Given the description of an element on the screen output the (x, y) to click on. 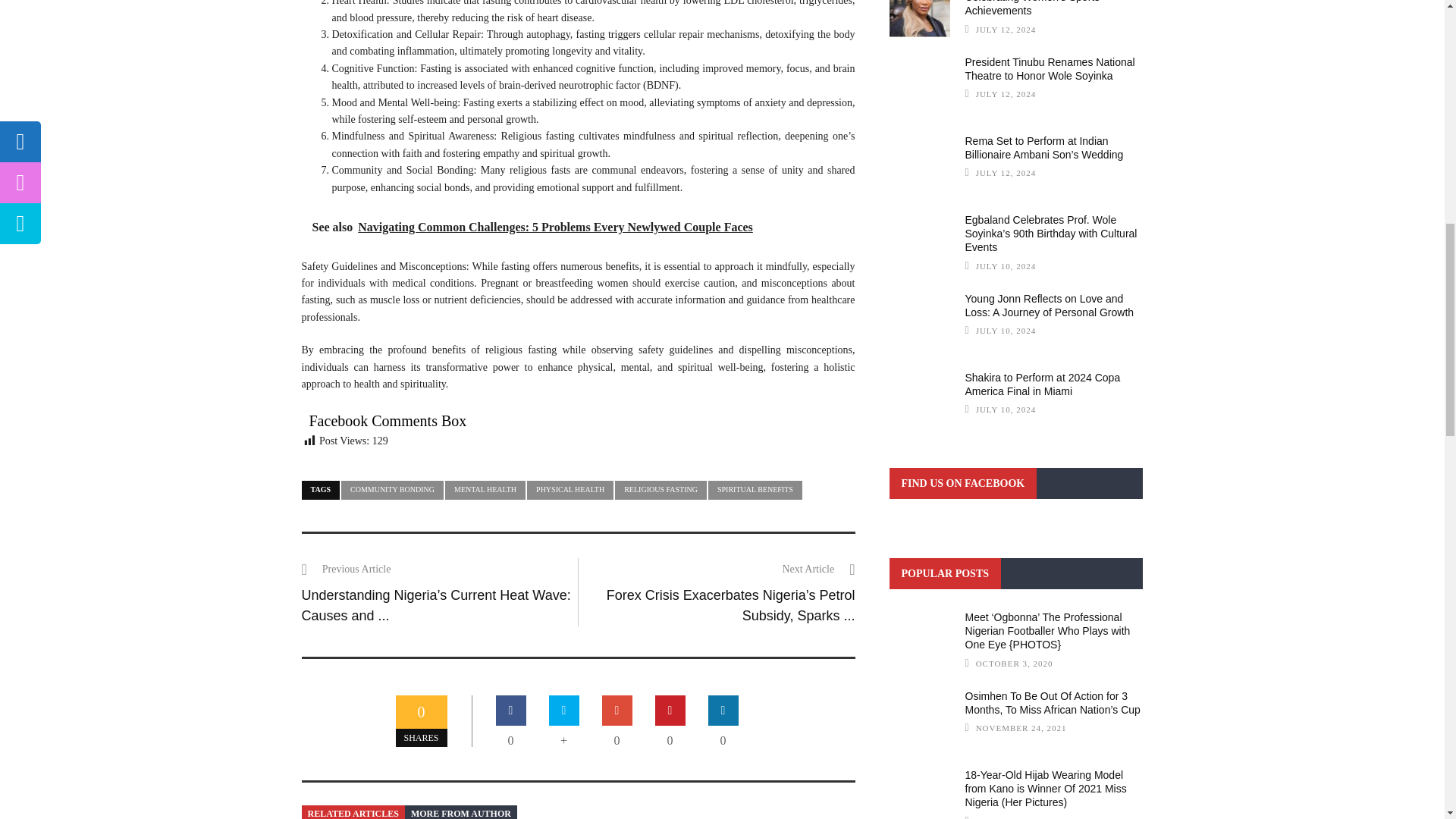
PHYSICAL HEALTH (569, 489)
Pinterest (670, 710)
SPIRITUAL BENEFITS (754, 489)
RELIGIOUS FASTING (660, 489)
Tweet (564, 710)
Google Plus (617, 710)
View all posts tagged community bonding (392, 489)
View all posts tagged Mental health (485, 489)
Linkedin (722, 710)
View all posts tagged spiritual benefits (754, 489)
View all posts tagged physical health (569, 489)
COMMUNITY BONDING (392, 489)
View all posts tagged religious fasting (660, 489)
Facebook (510, 710)
